Given the description of an element on the screen output the (x, y) to click on. 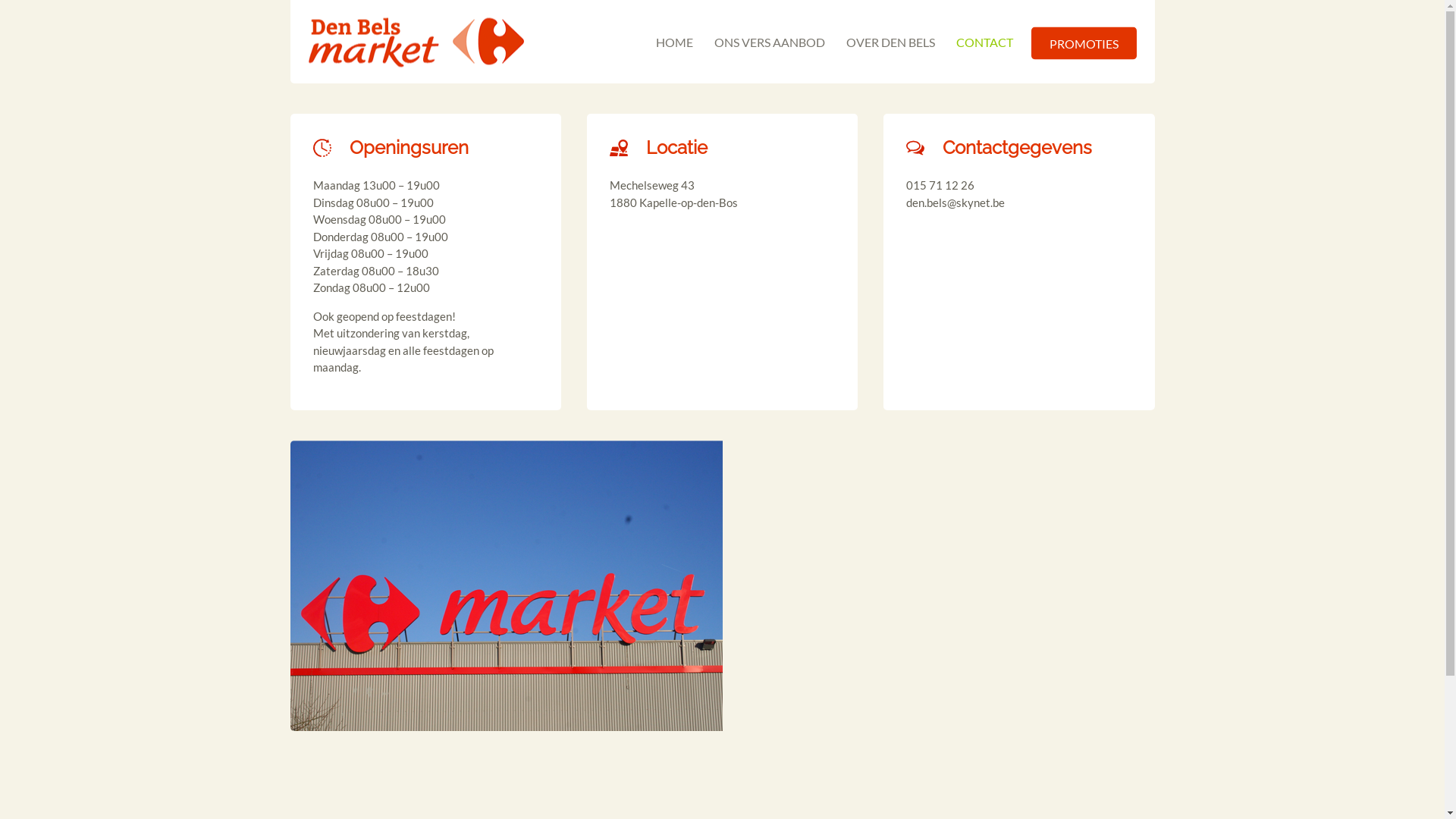
CONTACT Element type: text (983, 41)
ONS VERS AANBOD Element type: text (769, 41)
OVER DEN BELS Element type: text (890, 41)
HOME Element type: text (673, 41)
PROMOTIES Element type: text (1083, 43)
